Given the description of an element on the screen output the (x, y) to click on. 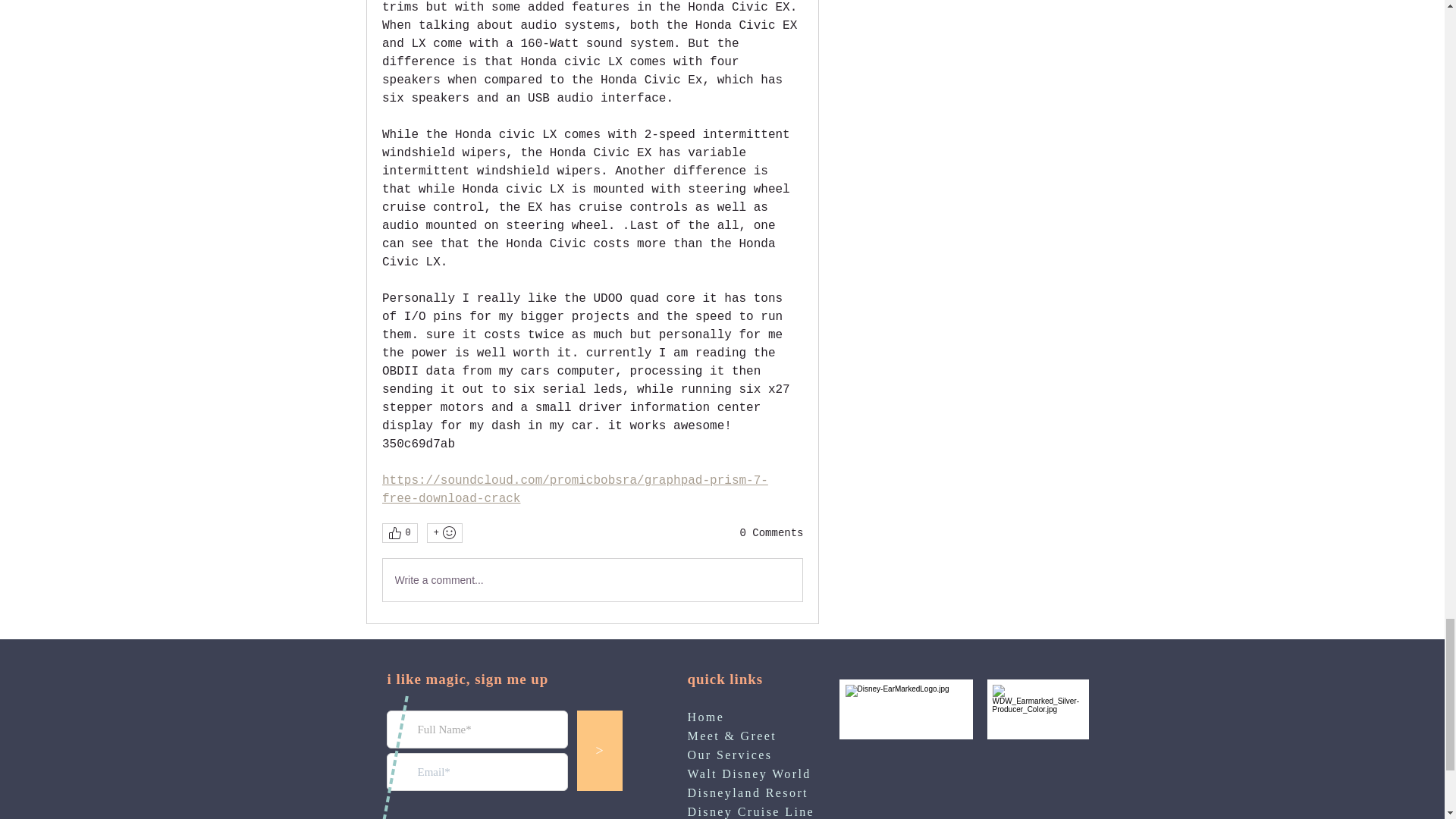
0 Comments (771, 533)
Our Services (729, 755)
Disneyland Resort (747, 792)
Disney Cruise Line (750, 811)
Home (705, 717)
Walt Disney World (748, 773)
Write a comment... (591, 579)
